Given the description of an element on the screen output the (x, y) to click on. 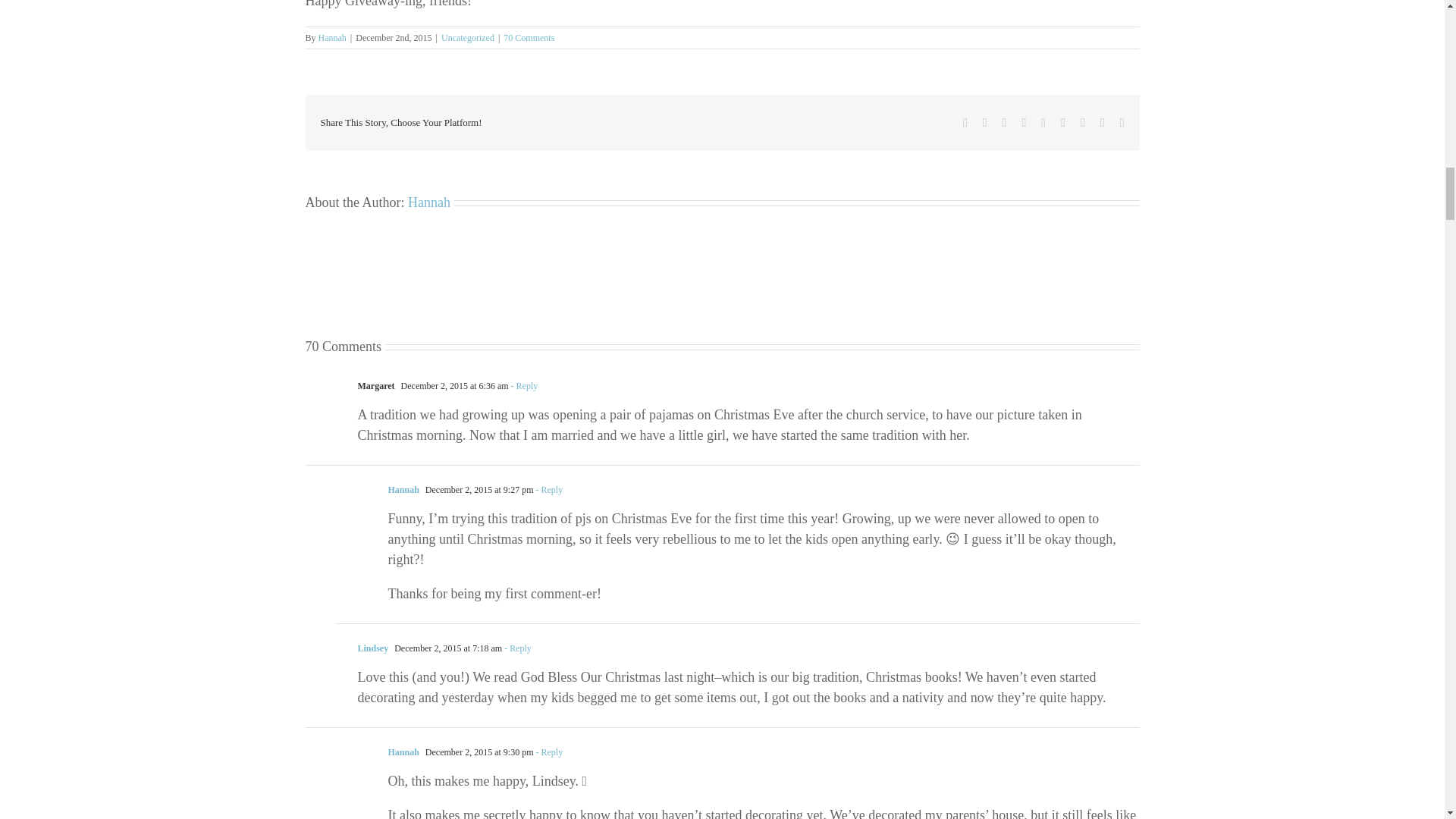
Uncategorized (468, 37)
Hannah (403, 489)
Posts by Hannah (428, 201)
Posts by Hannah (332, 37)
Hannah (428, 201)
- Reply (523, 385)
Hannah (332, 37)
70 Comments (528, 37)
